Given the description of an element on the screen output the (x, y) to click on. 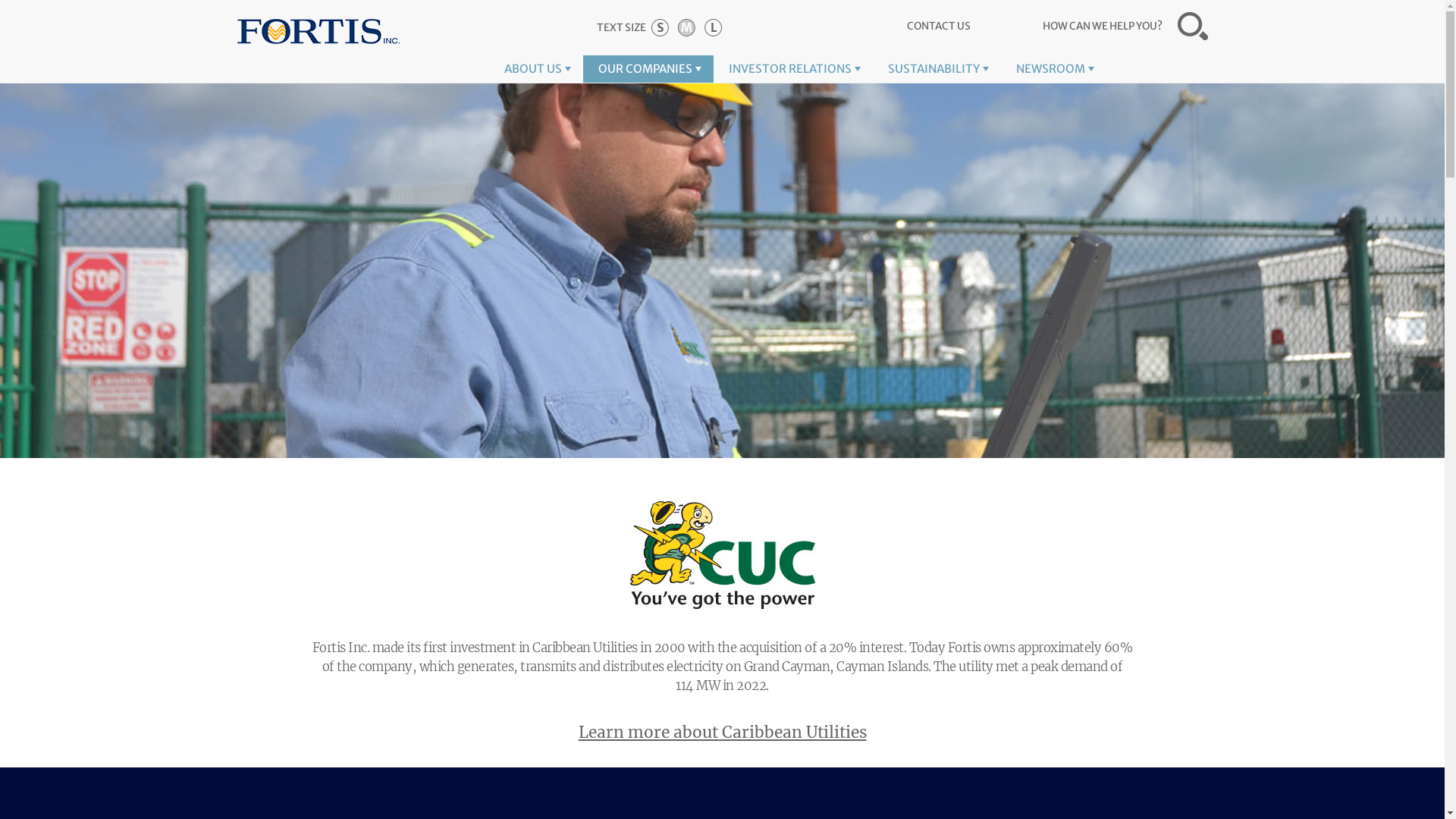
CONTACT US Element type: text (938, 25)
L Element type: text (712, 27)
INVESTOR RELATIONS Element type: text (792, 68)
M Element type: text (686, 27)
SUSTAINABILITY Element type: text (936, 68)
OUR COMPANIES Element type: text (647, 68)
HOW CAN WE HELP YOU? Element type: text (1124, 26)
Learn more about Caribbean Utilities Element type: text (721, 732)
S Element type: text (659, 27)
ABOUT US Element type: text (535, 68)
NEWSROOM Element type: text (1053, 68)
